Given the description of an element on the screen output the (x, y) to click on. 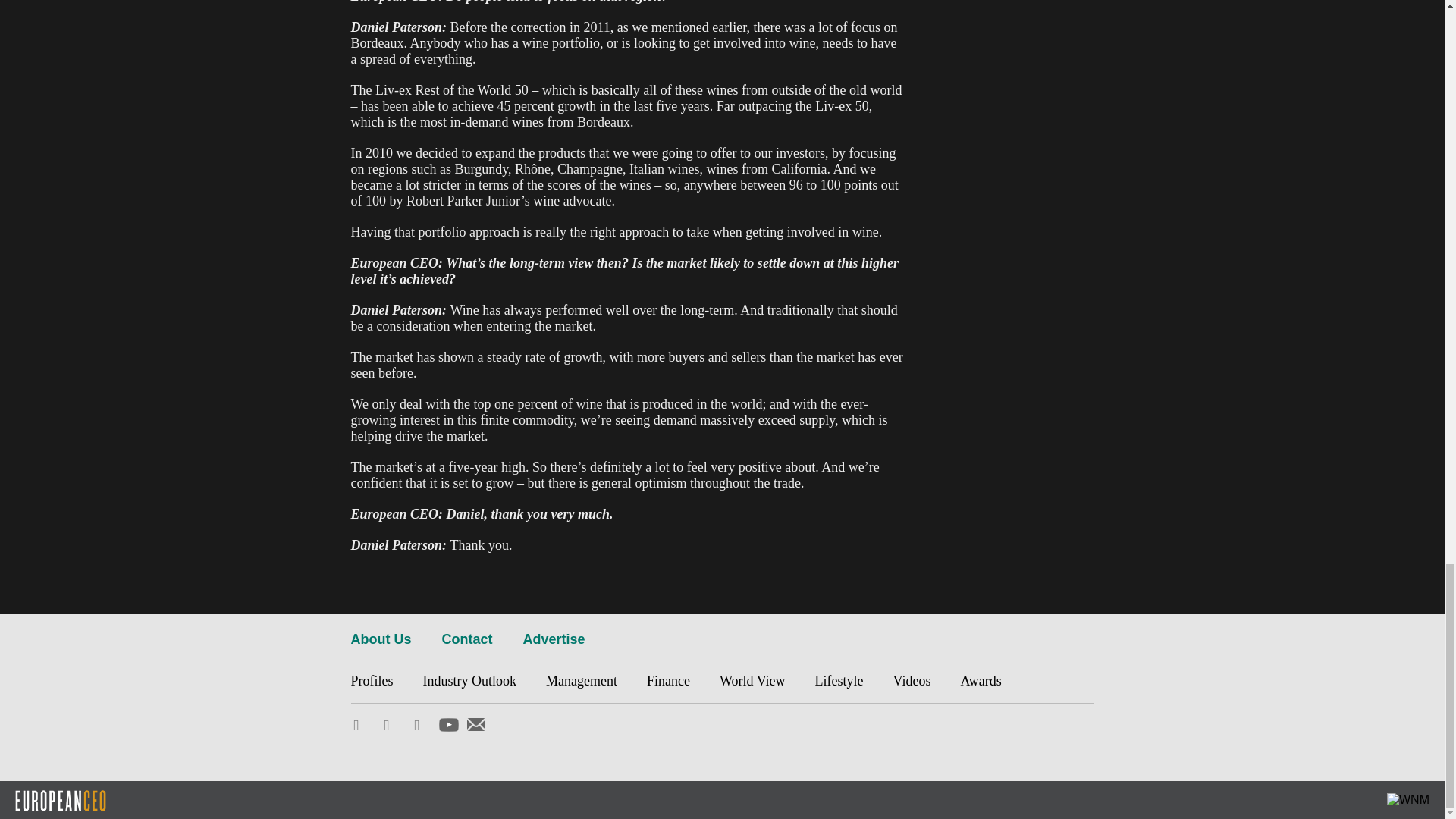
Finance (667, 680)
European CEO - YouTube (448, 724)
European CEO - Facebook (391, 725)
Profiles (378, 680)
About Us (380, 639)
Industry Outlook (469, 680)
Contact (466, 639)
Management (581, 680)
Newsletter (475, 723)
European CEO - Twitter (361, 725)
